Given the description of an element on the screen output the (x, y) to click on. 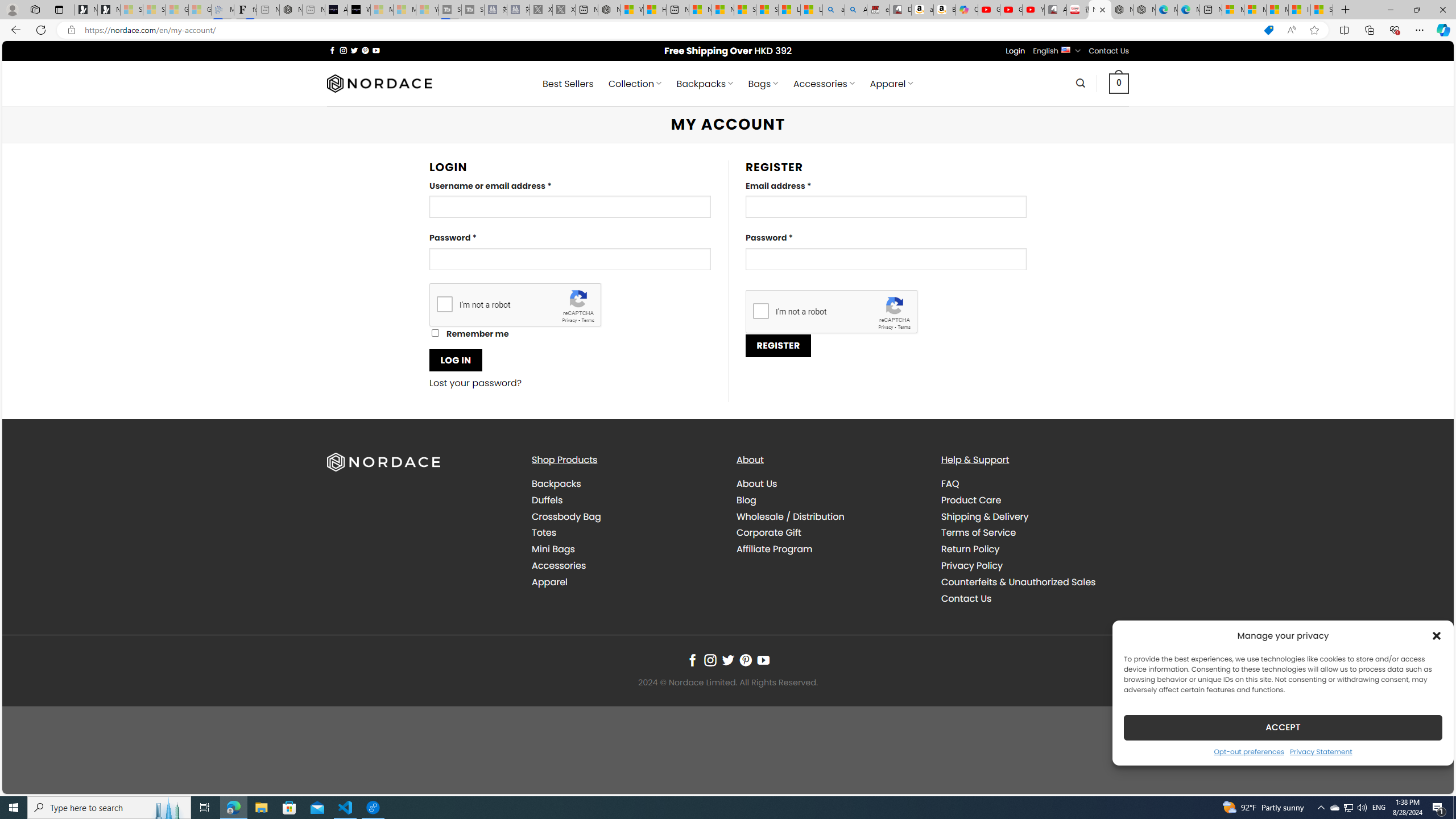
Duffels (625, 499)
Accessories (625, 565)
Wholesale / Distribution (830, 516)
Class: cmplz-close (1436, 635)
  0   (1118, 83)
Crossbody Bag (625, 516)
Mini Bags (625, 549)
 0  (1118, 83)
